Given the description of an element on the screen output the (x, y) to click on. 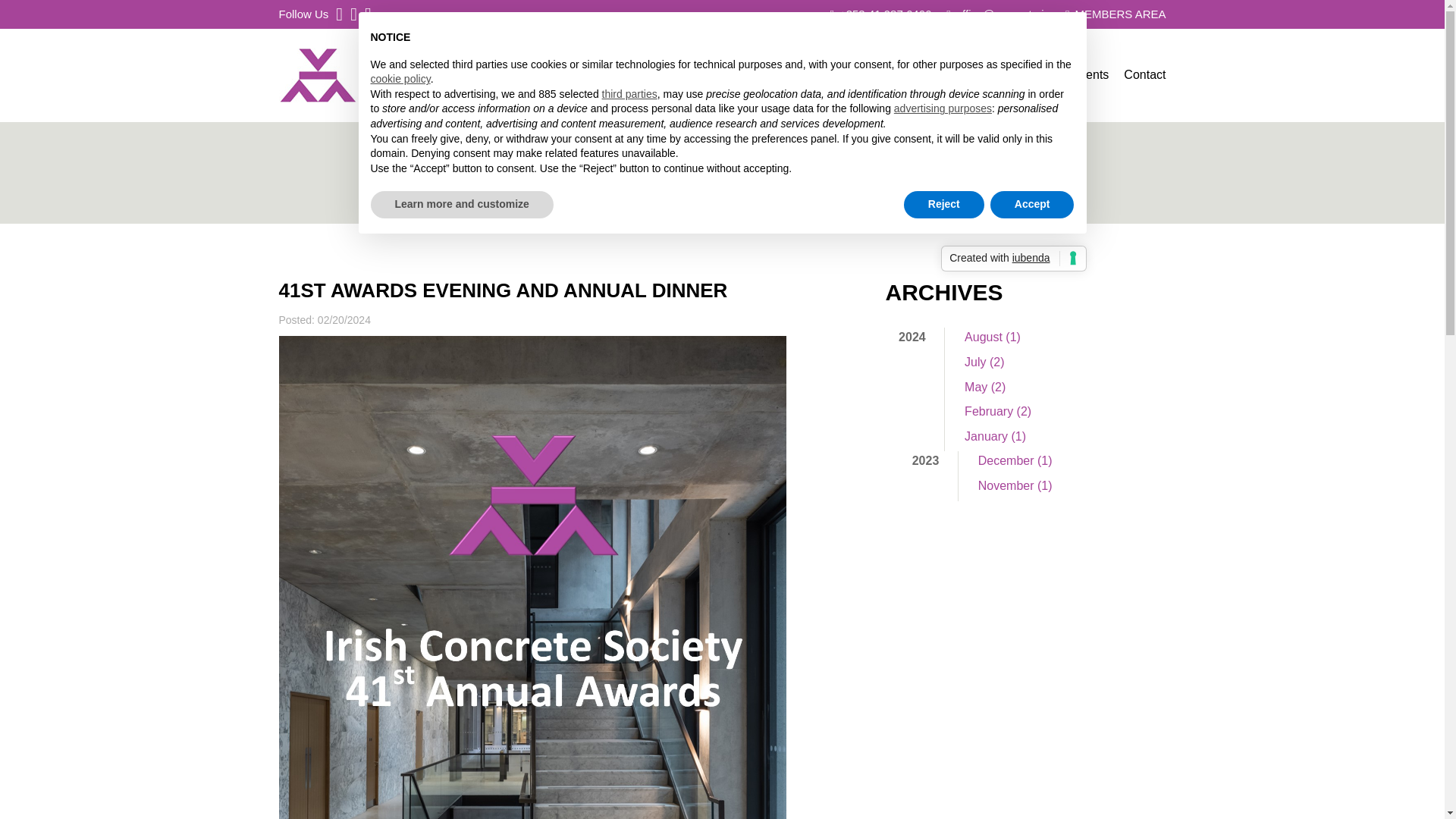
About Concrete (961, 74)
MEMBERS AREA (1115, 14)
About Us (673, 74)
Our Corporate Members (745, 211)
Membership (745, 108)
About Concrete (961, 108)
Home (616, 74)
Courses (877, 108)
Education (877, 74)
Join Us (745, 176)
